Given the description of an element on the screen output the (x, y) to click on. 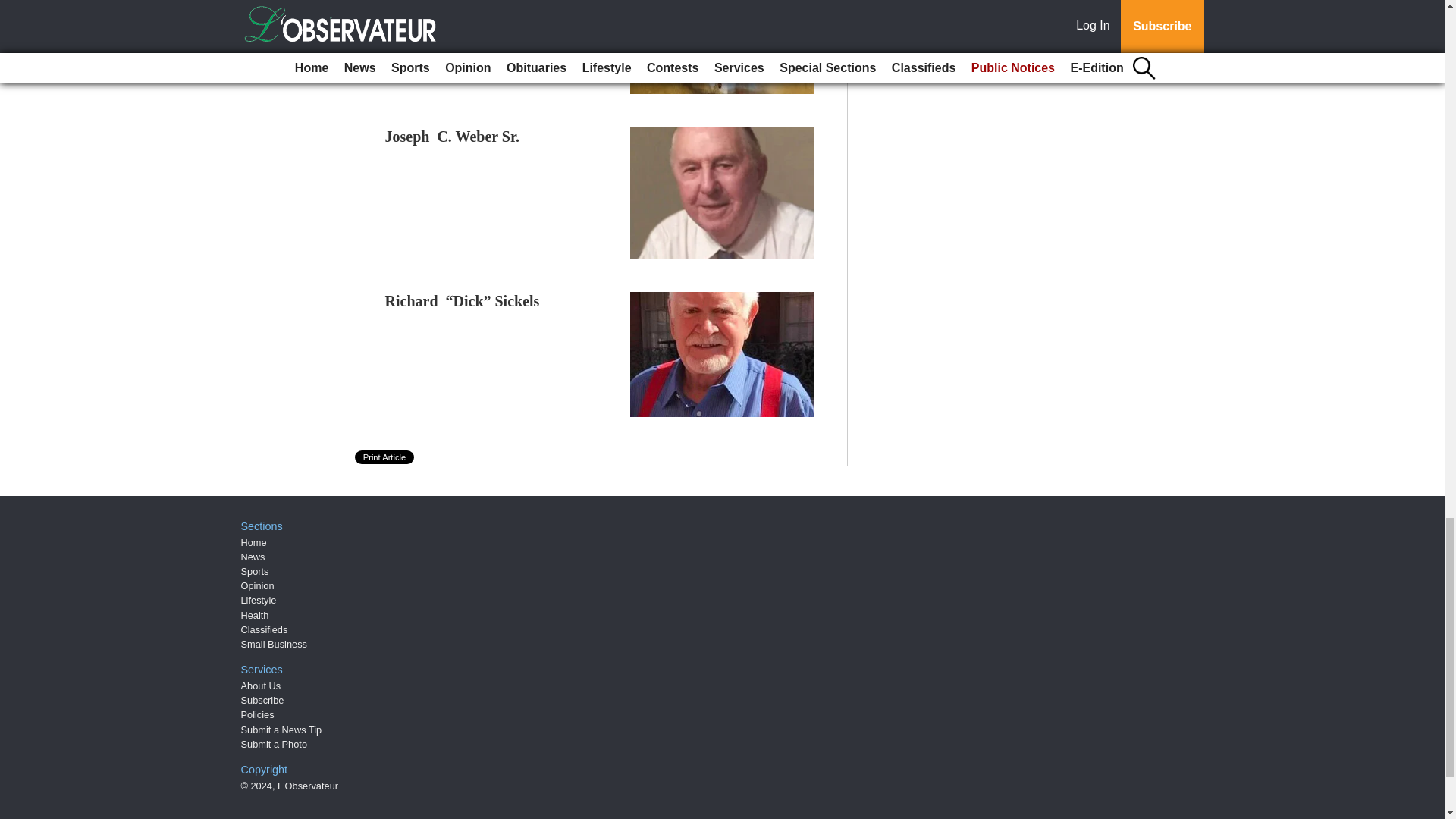
Print Article (384, 457)
Joseph  C. Weber Sr. (452, 135)
